Given the description of an element on the screen output the (x, y) to click on. 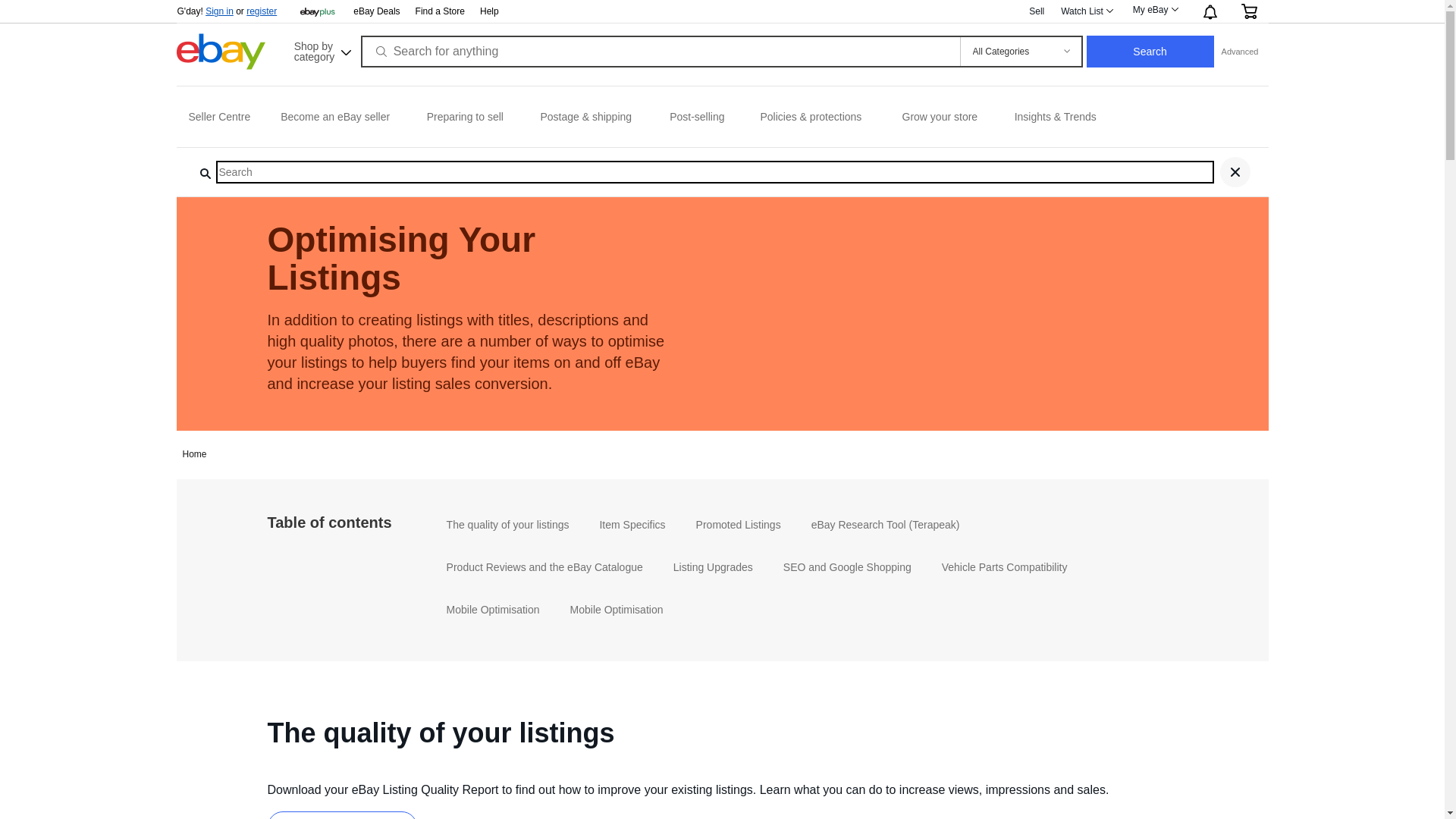
Vehicle Parts Compatibility Element type: text (1004, 567)
Help Element type: text (489, 11)
Grow your store Element type: text (940, 116)
Item Specifics Element type: text (632, 524)
Post-selling Element type: text (696, 116)
eBay Deals Element type: text (376, 11)
eBay Research Tool (Terapeak) Element type: text (885, 524)
My eBay Element type: text (1154, 9)
Mobile Optimisation Element type: text (492, 609)
Product Reviews and the eBay Catalogue Element type: text (544, 567)
Postage & shipping Element type: text (586, 116)
Home Element type: text (194, 453)
Sell Element type: text (1036, 11)
Advanced Element type: text (1240, 51)
Search Element type: text (1150, 51)
Preparing to sell Element type: text (465, 116)
SEO and Google Shopping Element type: text (847, 567)
Seller Centre Element type: text (215, 116)
Watch List Element type: text (1086, 11)
Promoted Listings Element type: text (738, 524)
Listing Upgrades Element type: text (713, 567)
Shop by category Element type: text (321, 49)
Find a Store Element type: text (439, 11)
The quality of your listings Element type: text (507, 524)
Notification Element type: text (1208, 10)
register Element type: text (261, 11)
Insights & Trends Element type: text (1055, 116)
Become an eBay seller Element type: text (335, 116)
Sign in Element type: text (219, 11)
Policies & protections Element type: text (812, 116)
Mobile Optimisation Element type: text (616, 609)
